Given the description of an element on the screen output the (x, y) to click on. 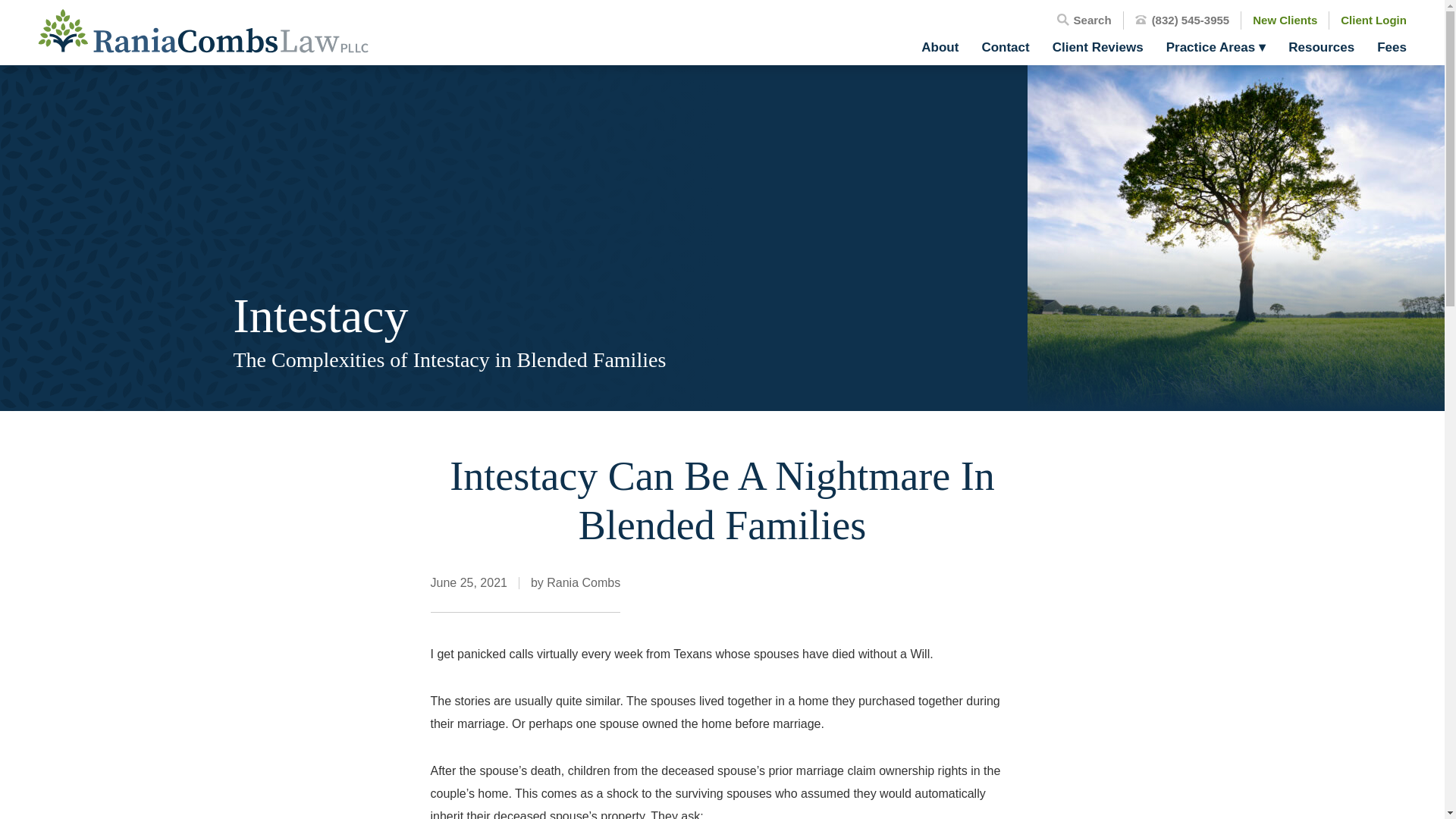
Rania Combs Law PLLC Logo (202, 30)
Rania Combs Law PLLC Logo (202, 32)
Resources (1320, 47)
Contact (1005, 47)
Fees (1385, 47)
Practice Areas (1216, 47)
Client Login (1373, 19)
About (939, 47)
Search (1084, 19)
New Clients (1284, 19)
